Given the description of an element on the screen output the (x, y) to click on. 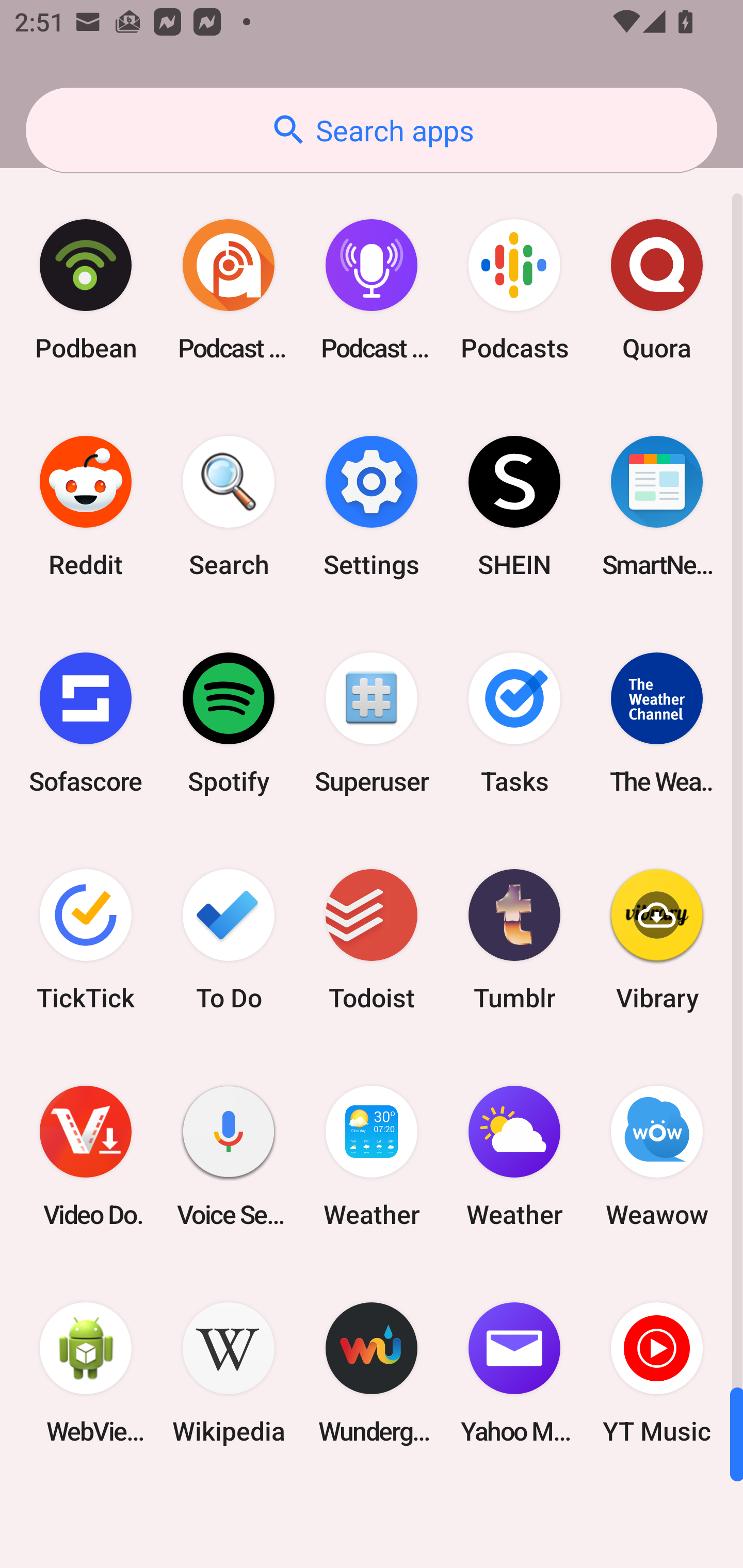
  Search apps (371, 130)
Podbean (85, 289)
Podcast Addict (228, 289)
Podcast Player (371, 289)
Podcasts (514, 289)
Quora (656, 289)
Reddit (85, 506)
Search (228, 506)
Settings (371, 506)
SHEIN (514, 506)
SmartNews (656, 506)
Sofascore (85, 722)
Spotify (228, 722)
Superuser (371, 722)
Tasks (514, 722)
The Weather Channel (656, 722)
TickTick (85, 939)
To Do (228, 939)
Todoist (371, 939)
Tumblr (514, 939)
Vibrary (656, 939)
Video Downloader & Ace Player (85, 1156)
Voice Search (228, 1156)
Weather (371, 1156)
Weather (514, 1156)
Weawow (656, 1156)
WebView Browser Tester (85, 1373)
Wikipedia (228, 1373)
Wunderground (371, 1373)
Yahoo Mail (514, 1373)
YT Music (656, 1373)
